Given the description of an element on the screen output the (x, y) to click on. 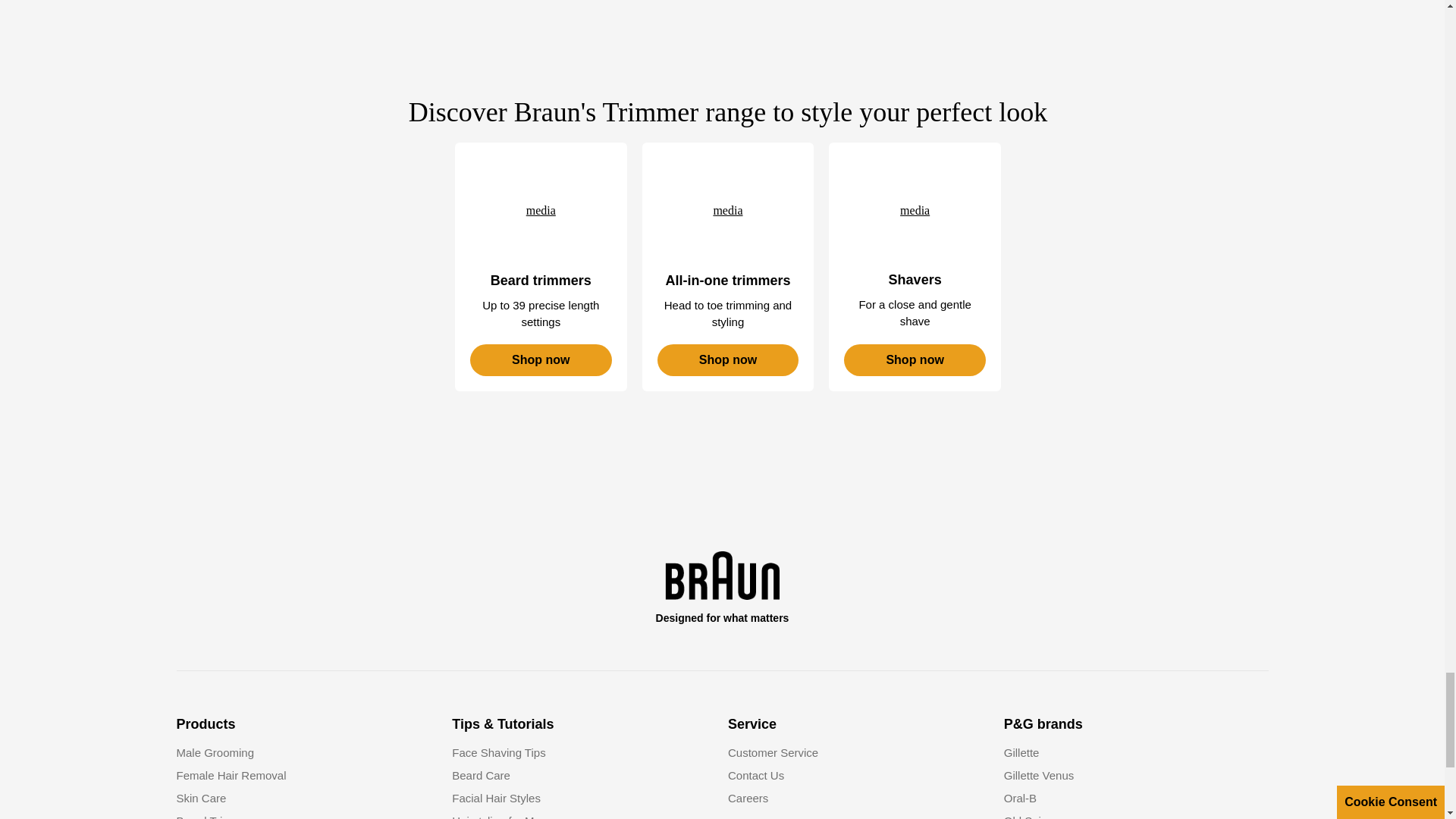
Shop now (914, 359)
Beard Trimmers (216, 816)
Shop now (728, 359)
Beard Care (481, 775)
Facial Hair Styles (495, 797)
Shop now (540, 359)
Female Hair Removal (230, 775)
Hairstyling for Men (499, 816)
media (728, 211)
media (914, 210)
Contact Us (756, 775)
media (540, 211)
Beard Trimmers (540, 211)
Skin Care (200, 797)
Face Shaving Tips (497, 752)
